Given the description of an element on the screen output the (x, y) to click on. 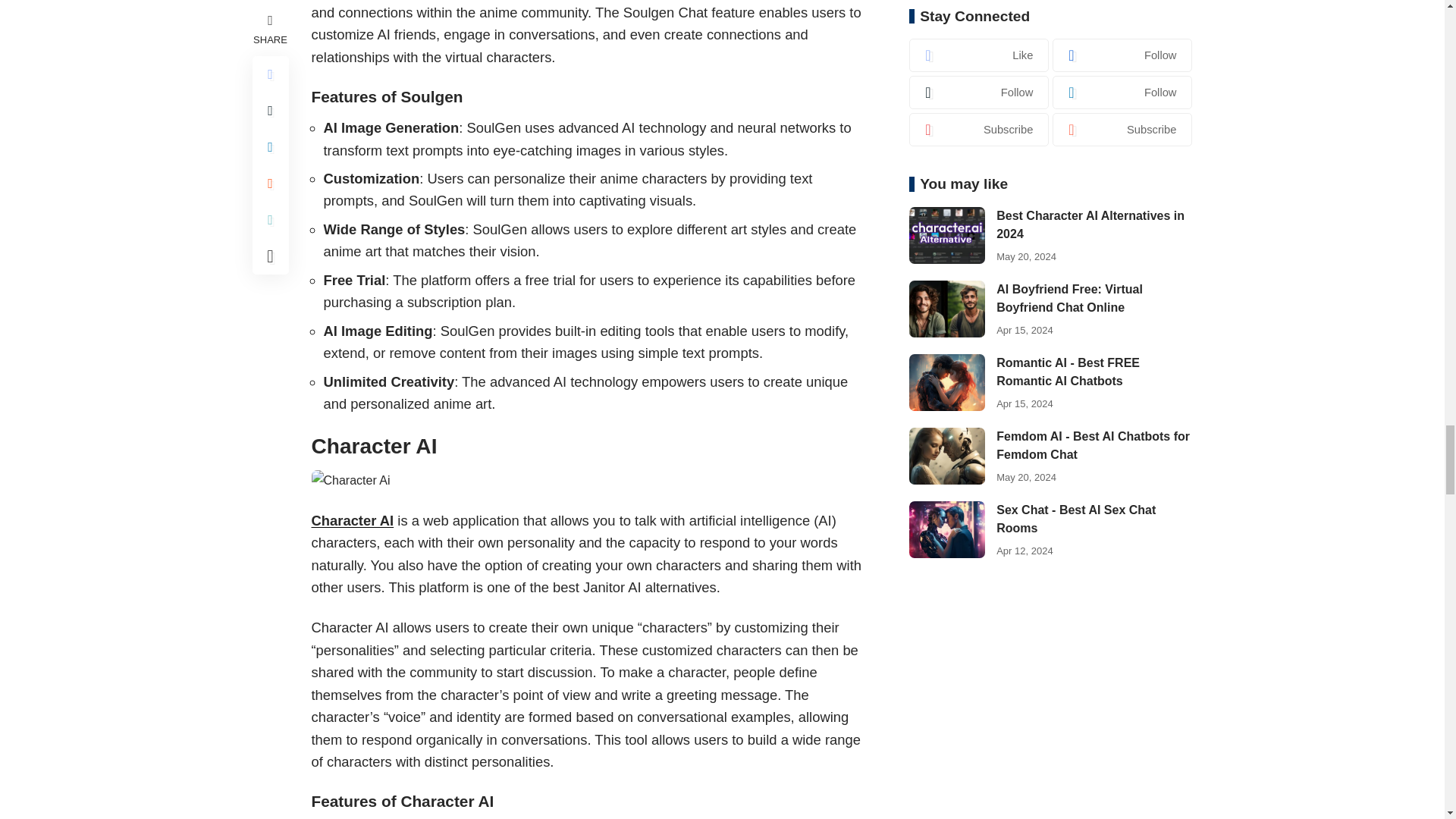
9 Best Janitor Ai Alternatives You Must Try Now (350, 480)
